Given the description of an element on the screen output the (x, y) to click on. 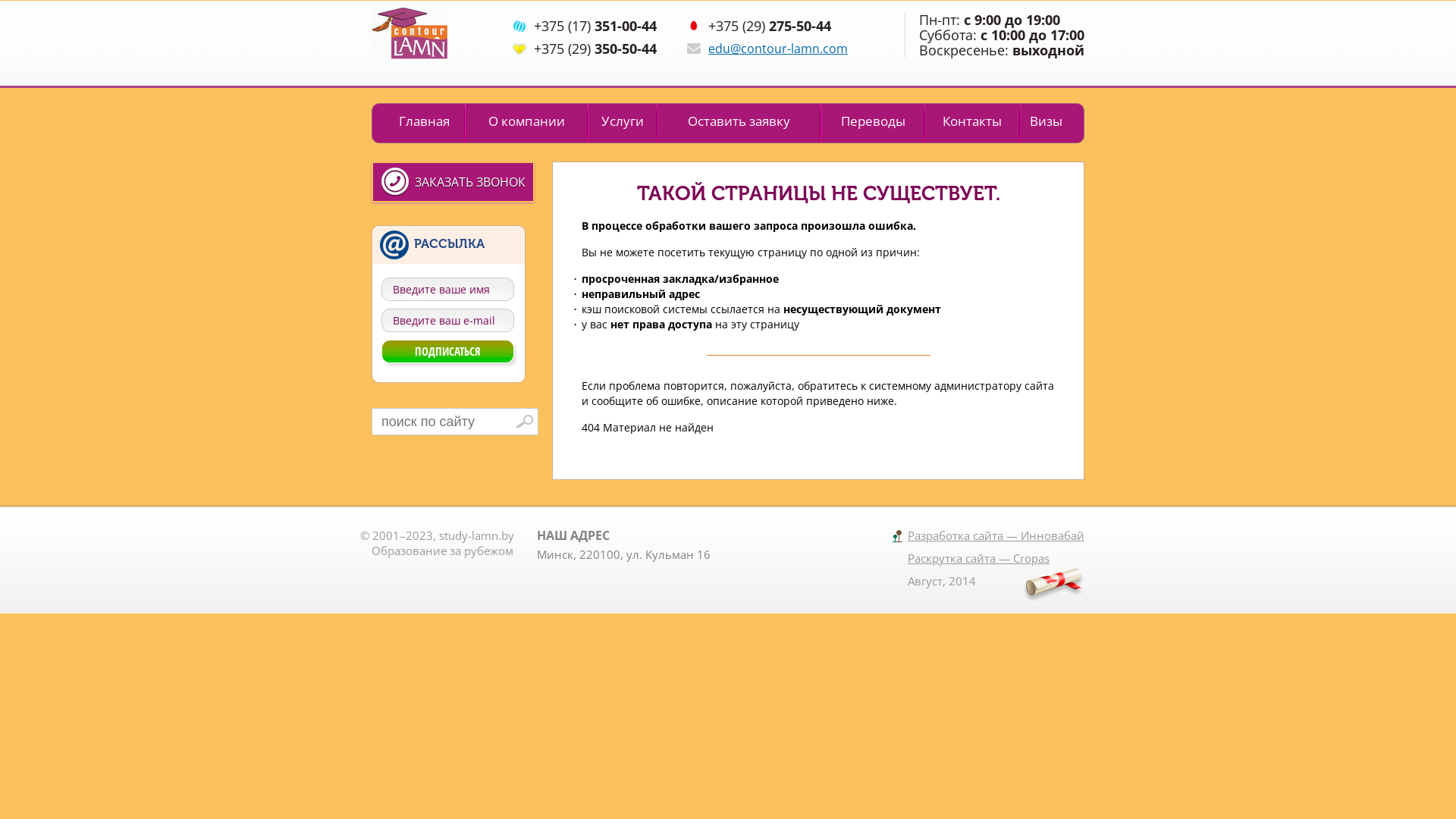
edu@contour-lamn.com Element type: text (777, 48)
